Given the description of an element on the screen output the (x, y) to click on. 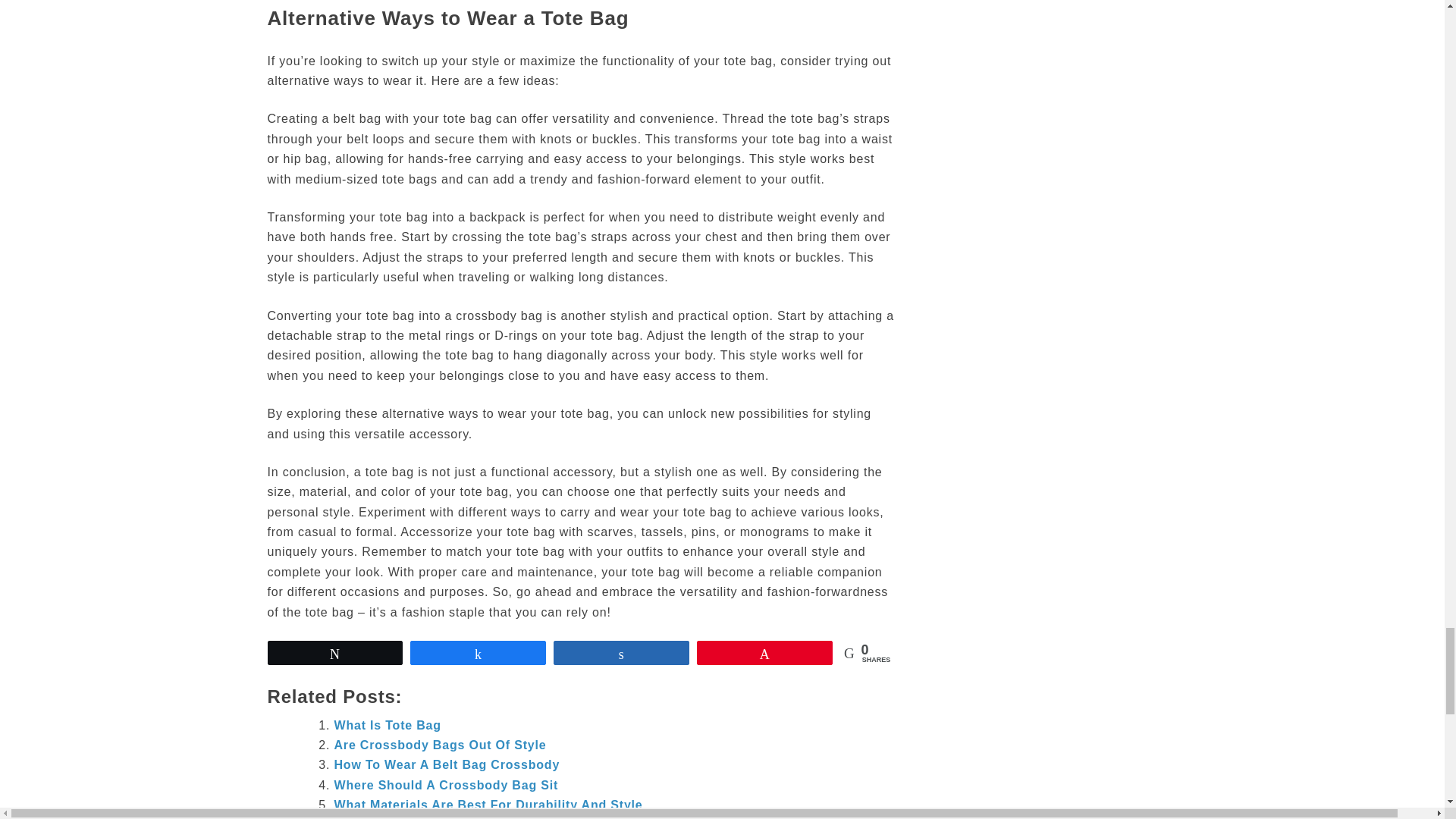
Where Should A Crossbody Bag Sit (445, 784)
How To Wear A Belt Bag Crossbody (446, 764)
What Is Tote Bag (387, 725)
Are Crossbody Bags Out Of Style (439, 744)
What Materials Are Best For Durability And Style (487, 804)
